Given the description of an element on the screen output the (x, y) to click on. 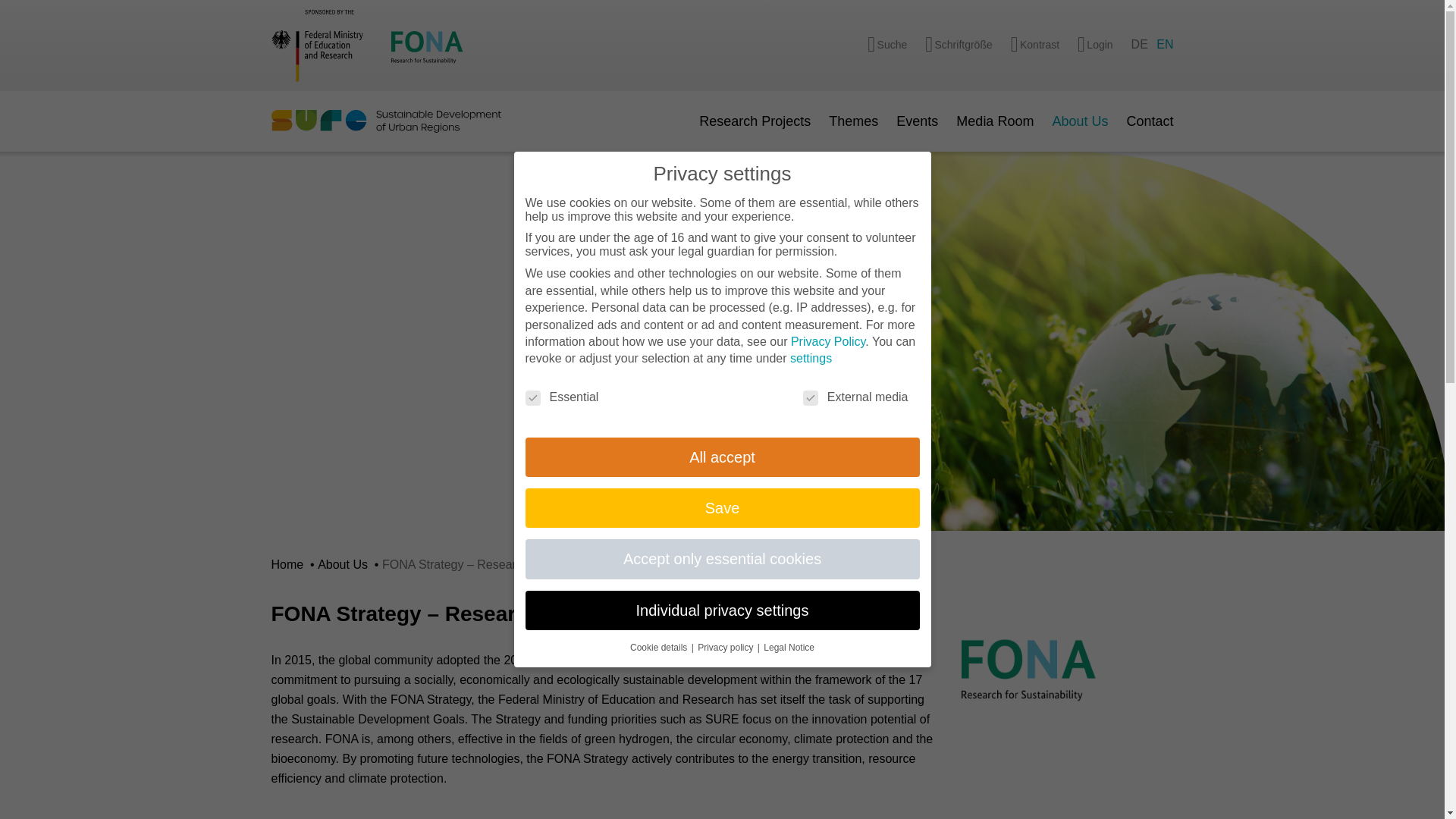
EN (1164, 45)
About Us (1079, 121)
Media Room (994, 121)
DE (1139, 45)
Login (1095, 45)
Themes (852, 121)
Events (916, 121)
Home (288, 563)
Kontrast (1034, 45)
Research Projects (754, 121)
Contact (1149, 121)
Suche (887, 45)
